Given the description of an element on the screen output the (x, y) to click on. 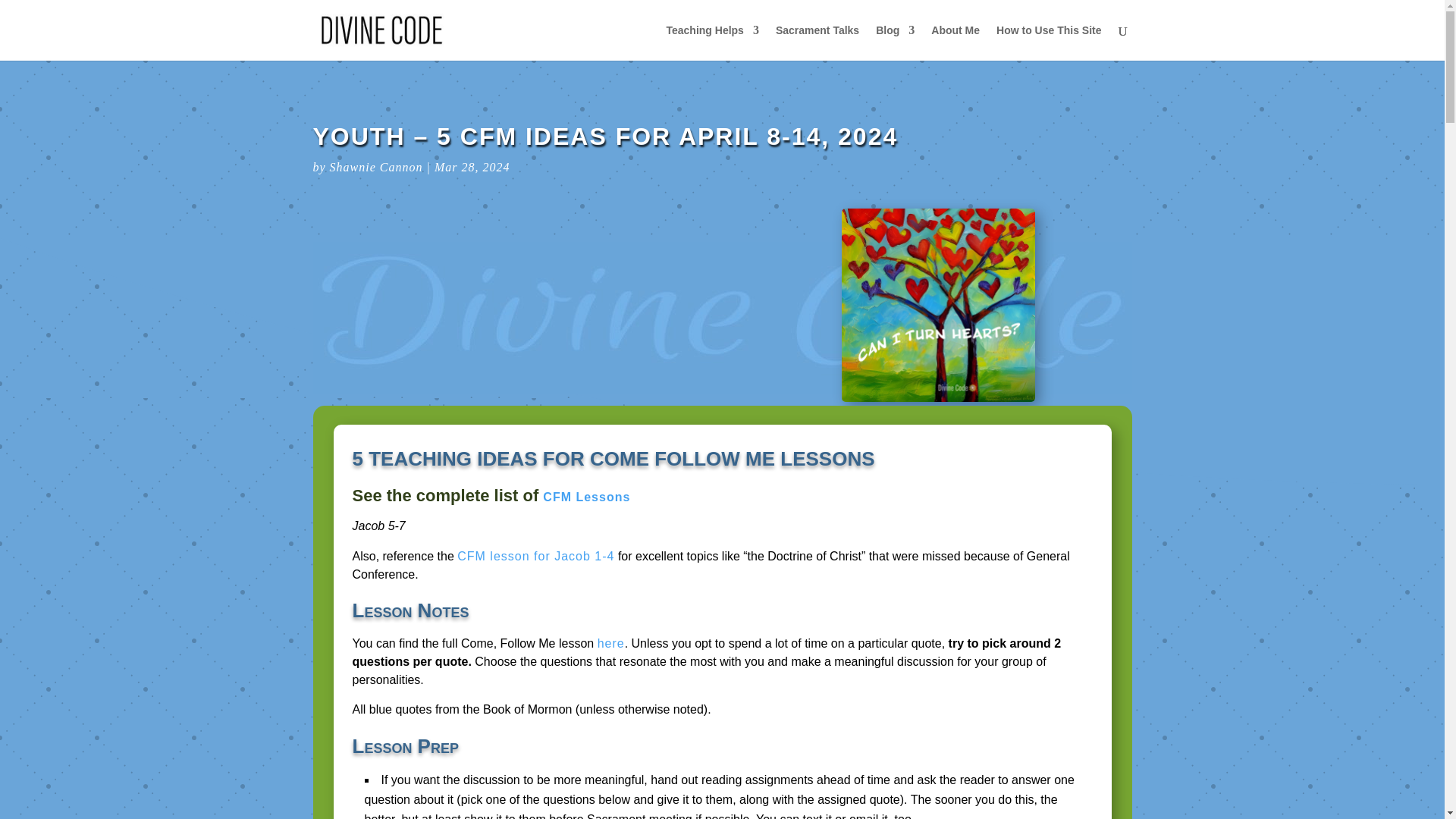
here (610, 643)
About Me (955, 42)
How to Use This Site (1047, 42)
Can I Turn Hearts? (938, 305)
CFM lesson for Jacob 1-4 (535, 555)
Teaching Helps (711, 42)
Sacrament Talks (817, 42)
Blog (895, 42)
Posts by Shawnie Cannon (376, 166)
Shawnie Cannon (376, 166)
